Given the description of an element on the screen output the (x, y) to click on. 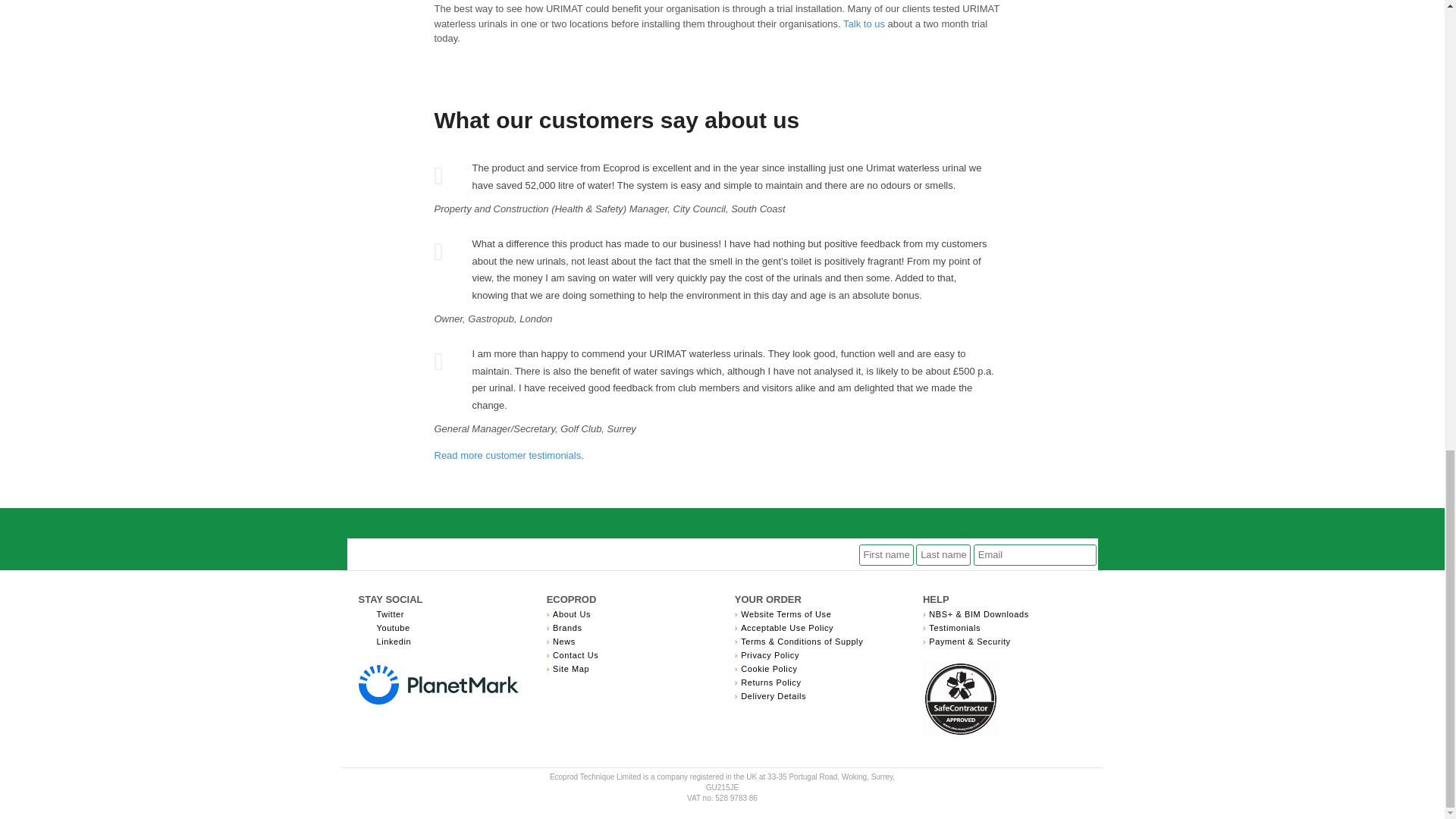
Returns Policy (770, 682)
Brands (566, 627)
Acceptable Use Policy (786, 627)
Site Map (571, 668)
Youtube (392, 627)
Linkedin (392, 641)
About Us (572, 614)
Cookie Policy (768, 668)
Delivery Details (773, 696)
Website Terms of Use (786, 614)
